Given the description of an element on the screen output the (x, y) to click on. 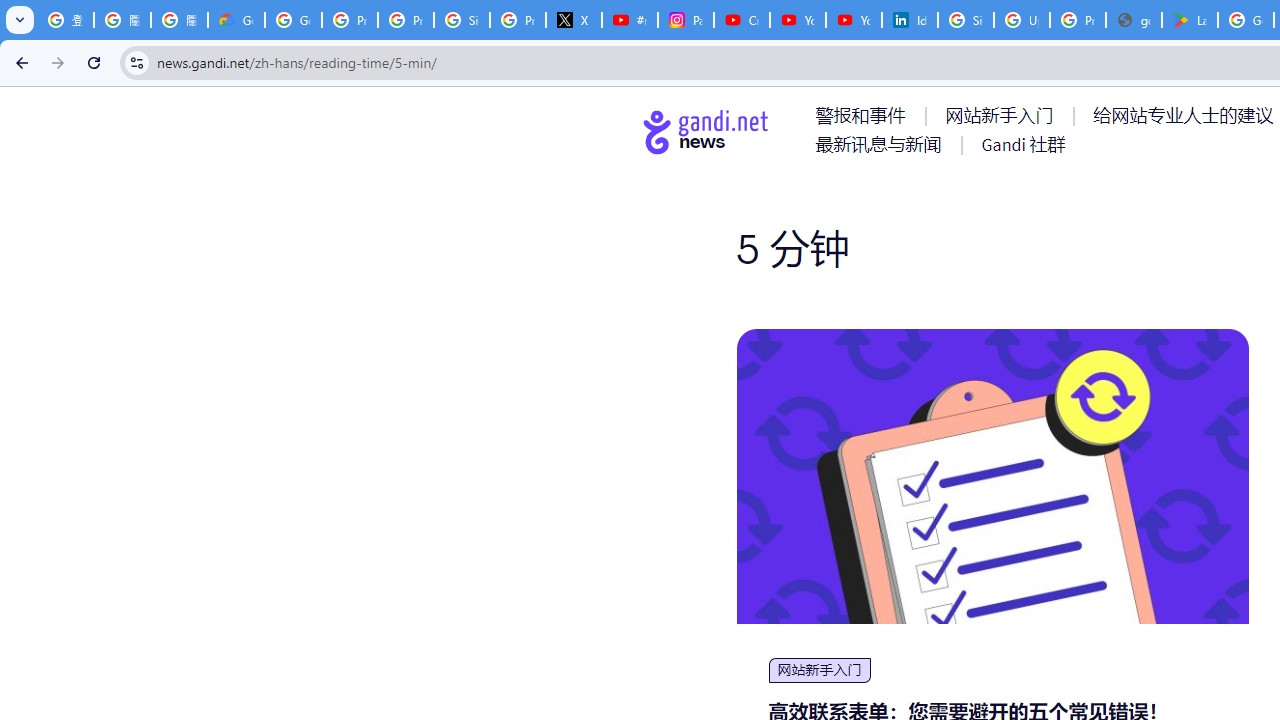
google_privacy_policy_en.pdf (1133, 20)
Google Cloud Privacy Notice (235, 20)
Go to home (706, 131)
